Given the description of an element on the screen output the (x, y) to click on. 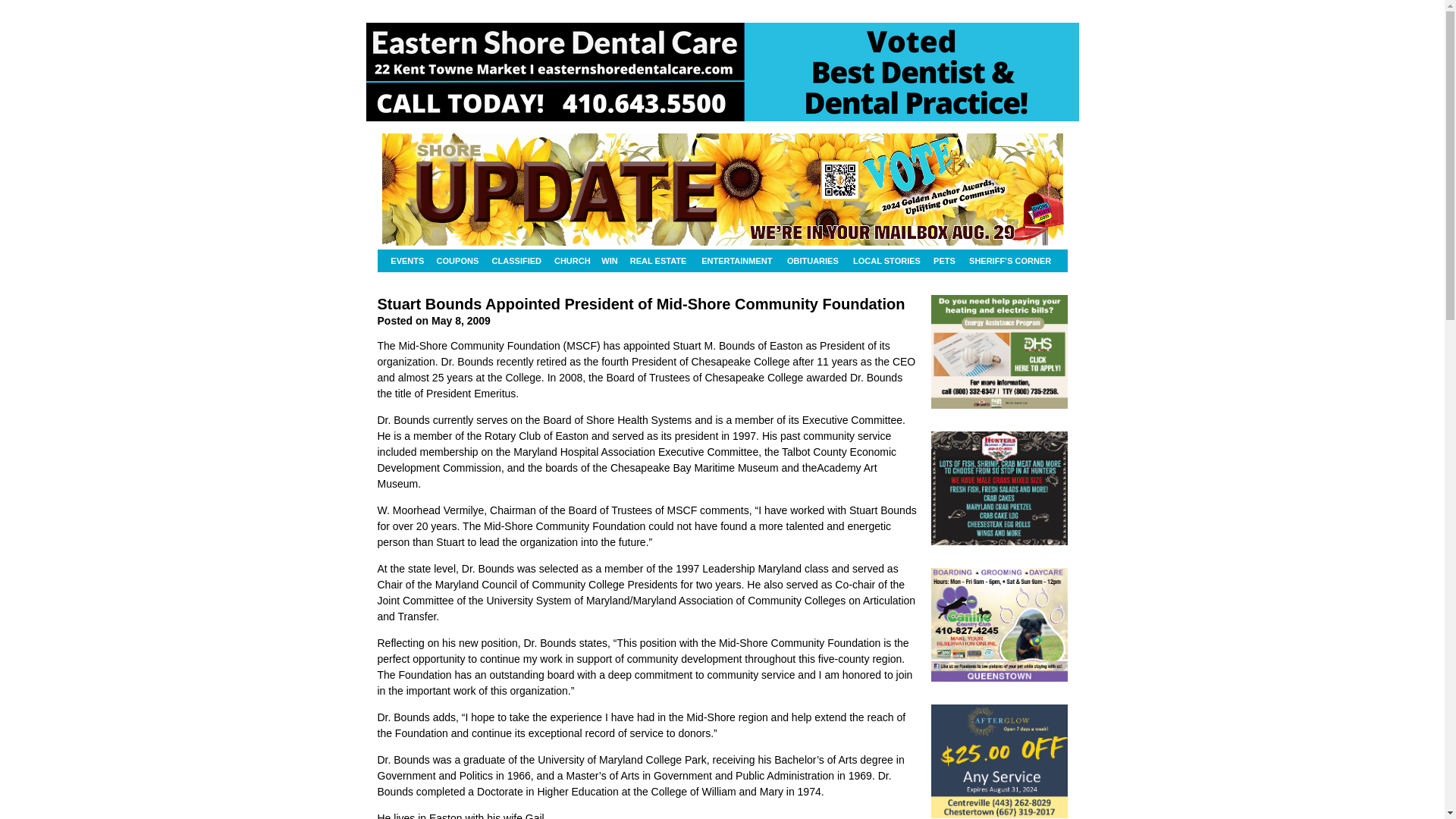
REAL ESTATE (657, 260)
EVENTS (407, 260)
ENTERTAINMENT (736, 260)
CHURCH (571, 260)
OBITUARIES (812, 260)
PETS (943, 260)
CLASSIFIED (516, 260)
LOCAL STORIES (886, 260)
COUPONS (457, 260)
